Given the description of an element on the screen output the (x, y) to click on. 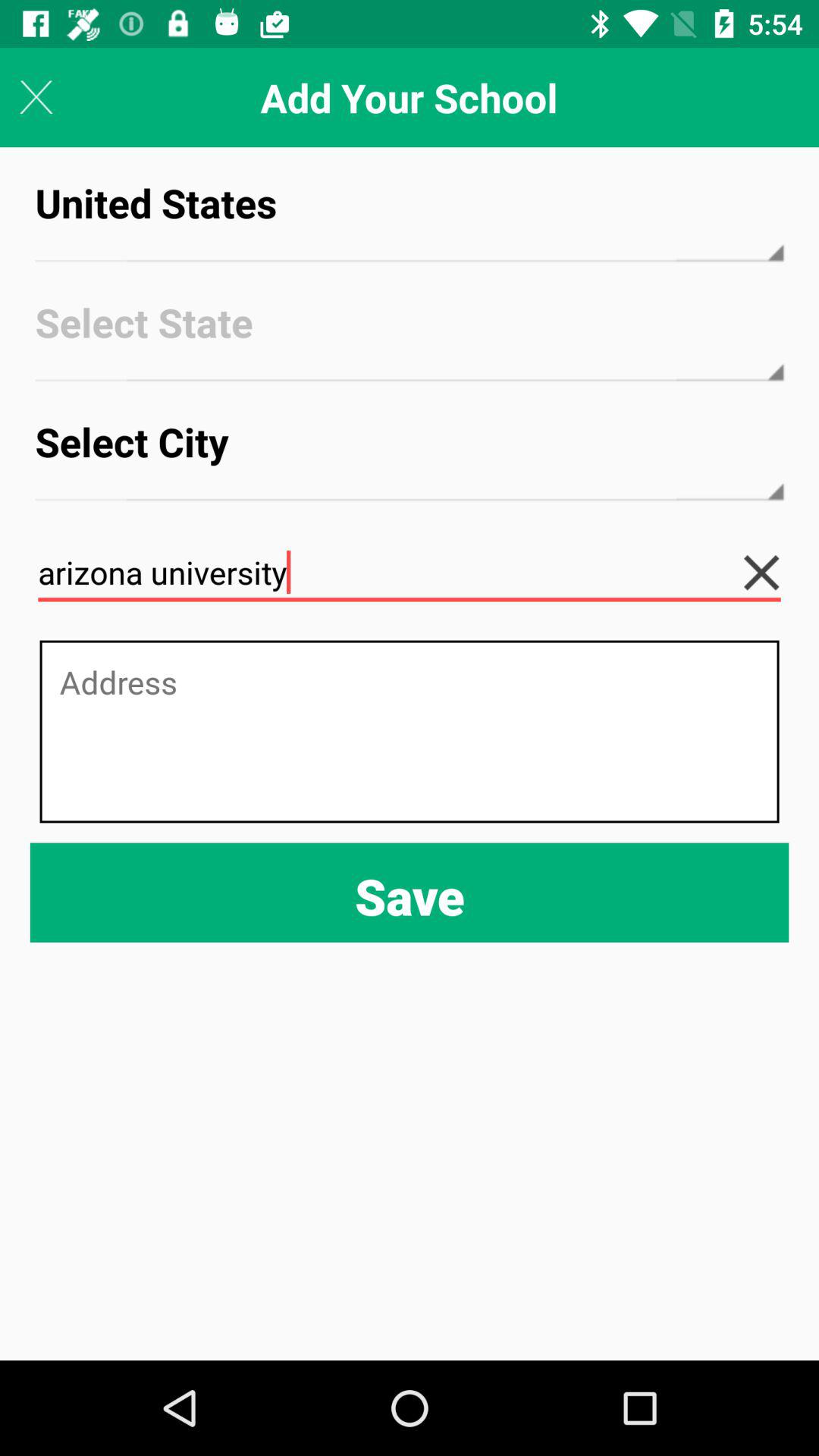
tap arizona university (409, 572)
